Given the description of an element on the screen output the (x, y) to click on. 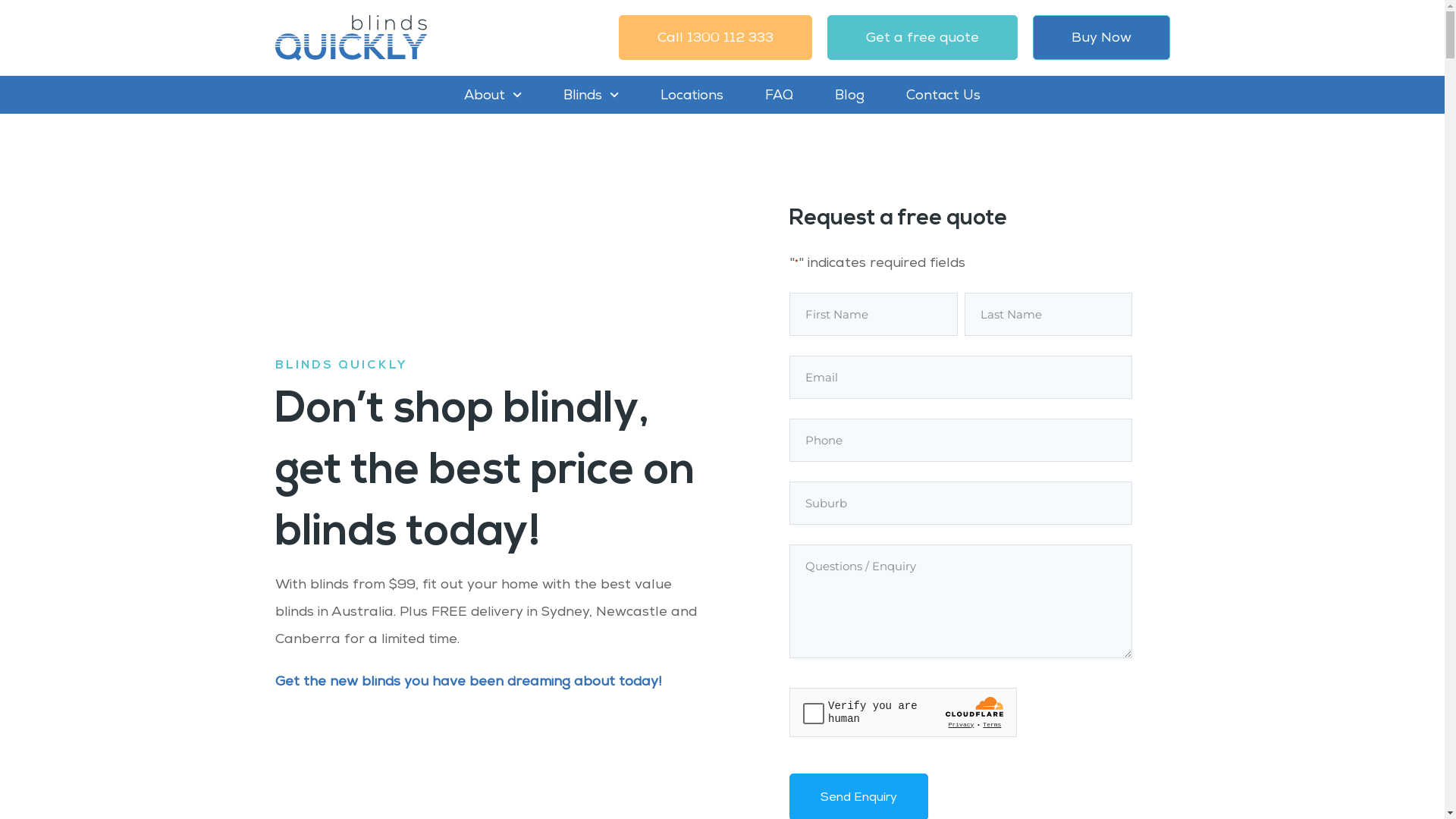
Locations Element type: text (691, 94)
Blog Element type: text (849, 94)
About Element type: text (492, 94)
Contact Us Element type: text (943, 94)
FAQ Element type: text (779, 94)
Widget containing a Cloudflare security challenge Element type: hover (902, 711)
Blinds Element type: text (590, 94)
Get a free quote Element type: text (921, 37)
Call 1300 112 333 Element type: text (715, 37)
Buy Now Element type: text (1101, 37)
